Given the description of an element on the screen output the (x, y) to click on. 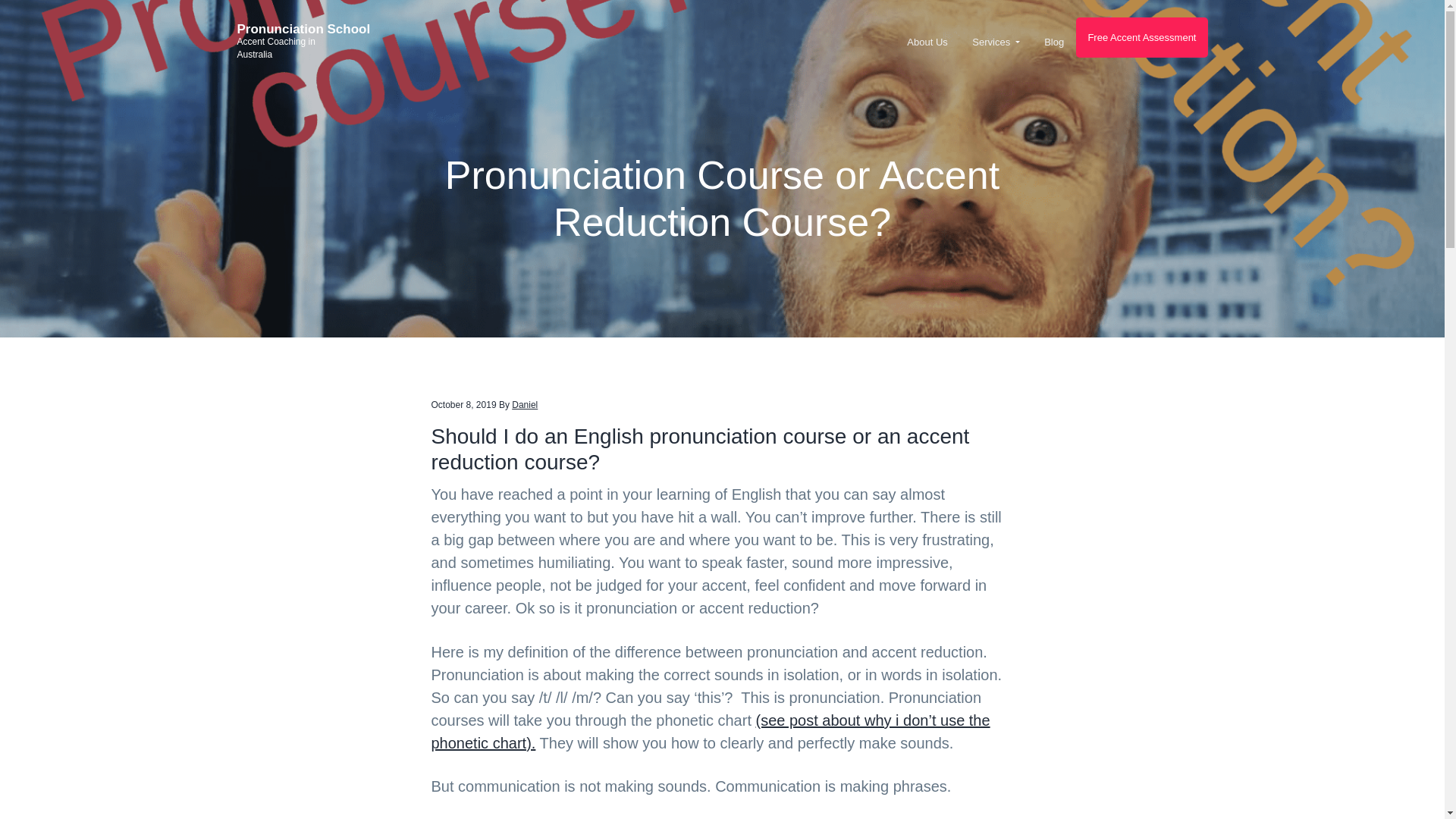
Services (995, 41)
Pronunciation School (302, 29)
Free Accent Assessment (1141, 37)
Blog (1054, 41)
About Us (927, 41)
Daniel (524, 404)
